Given the description of an element on the screen output the (x, y) to click on. 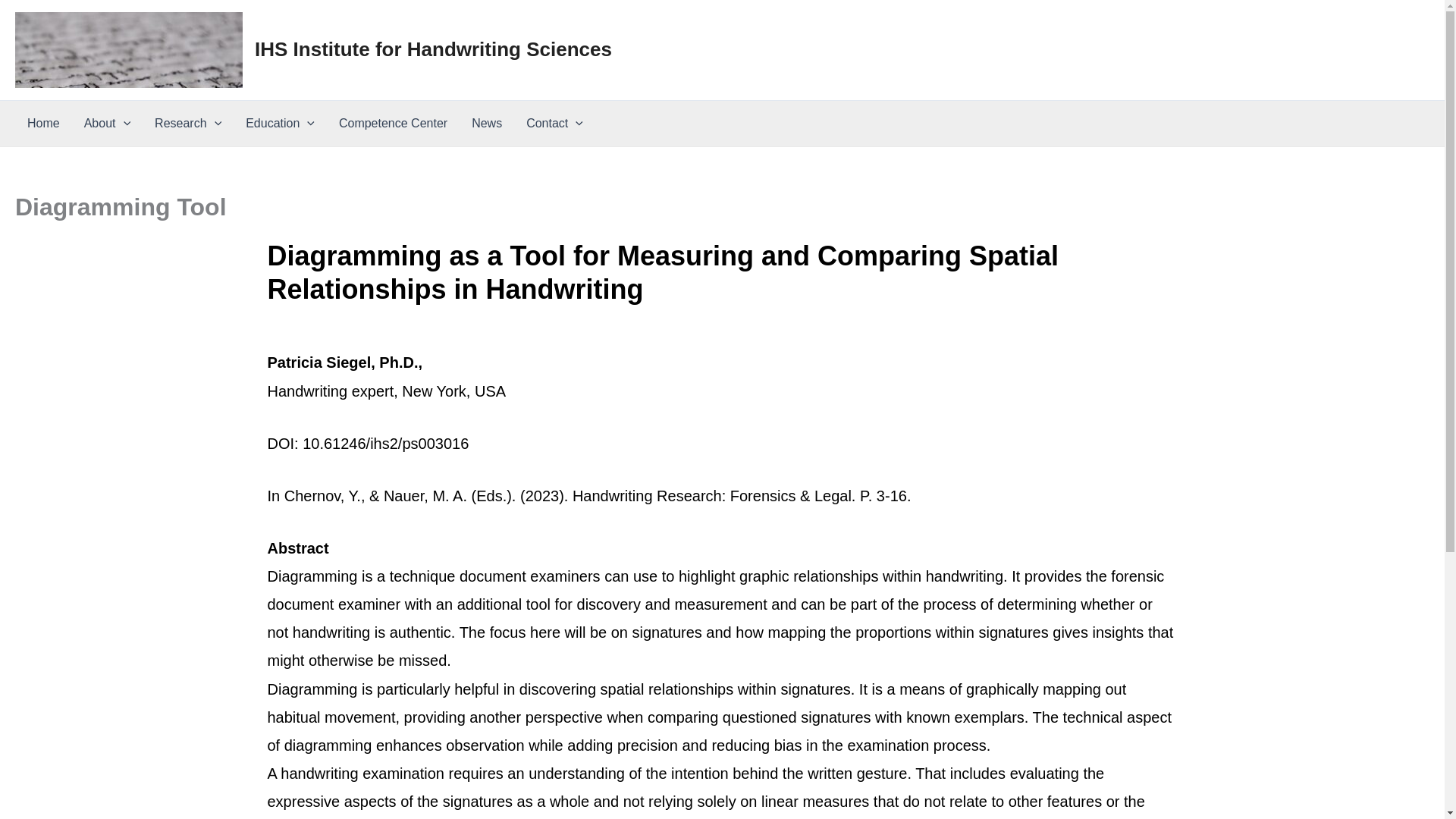
IHS Institute for Handwriting Sciences (432, 48)
Contact (554, 123)
Research (187, 123)
Home (42, 123)
News (486, 123)
Competence Center (393, 123)
Education (279, 123)
About (106, 123)
